Given the description of an element on the screen output the (x, y) to click on. 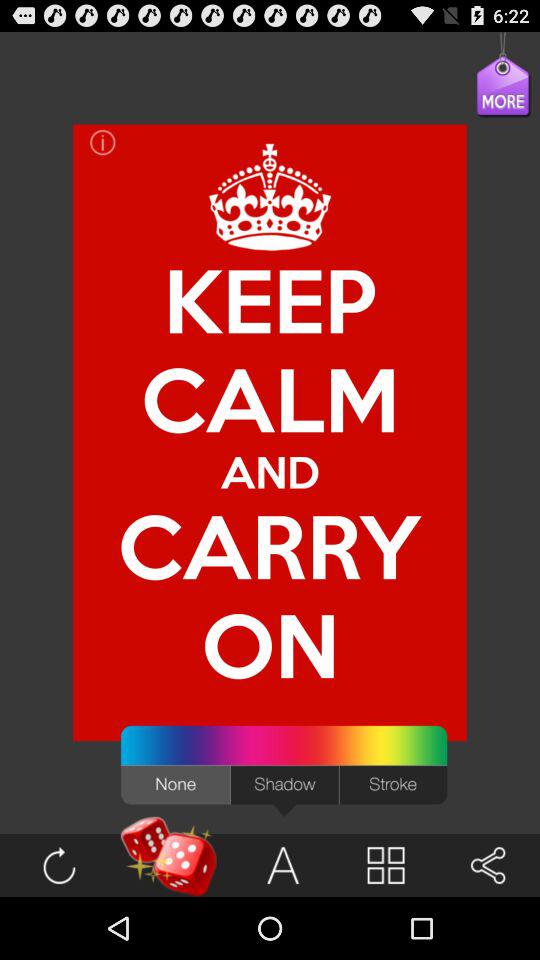
turn off the item above the keep icon (487, 96)
